Given the description of an element on the screen output the (x, y) to click on. 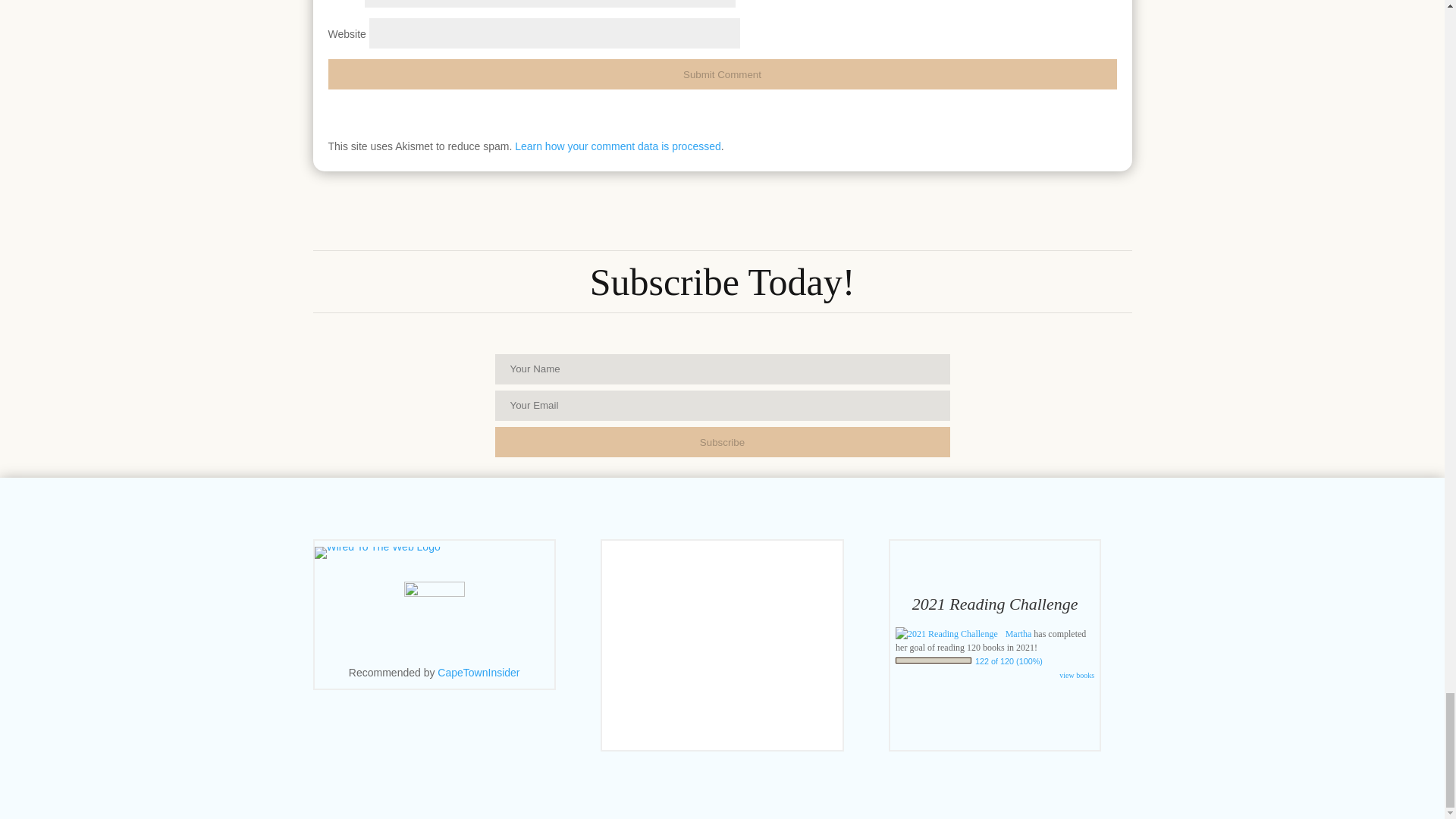
Subscribe (722, 441)
Wired To The Web Logo (376, 552)
Cape Town Influencers (478, 672)
